Given the description of an element on the screen output the (x, y) to click on. 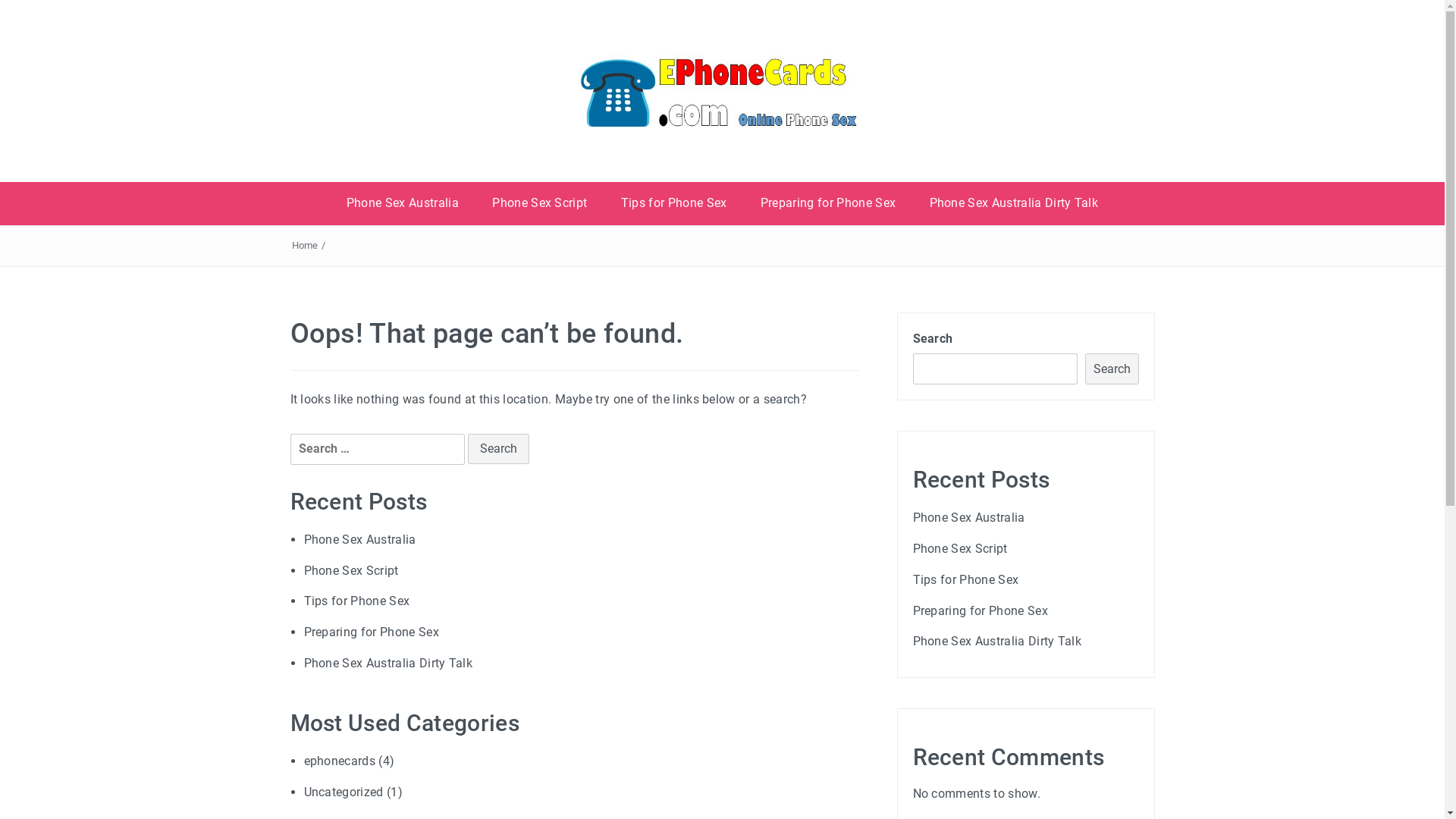
Phone Sex Australia Dirty Talk Element type: text (997, 640)
Preparing for Phone Sex Element type: text (980, 610)
Uncategorized Element type: text (342, 791)
Home Element type: text (304, 245)
Preparing for Phone Sex Element type: text (370, 631)
Search Element type: text (1111, 368)
Tips for Phone Sex Element type: text (673, 203)
Phone Sex Script Element type: text (350, 570)
Search Element type: text (498, 448)
Tips for Phone Sex Element type: text (966, 579)
Phone Sex Australia Dirty Talk Element type: text (1013, 203)
Phone Sex Script Element type: text (960, 548)
Phone Sex Australia Element type: text (359, 539)
Phone Sex Australia Dirty Talk Element type: text (387, 662)
Phone Sex Script Element type: text (539, 203)
Tips for Phone Sex Element type: text (356, 600)
Phone Sex Australia Element type: text (969, 517)
Preparing for Phone Sex Element type: text (827, 203)
Phone Sex Australia Element type: text (402, 203)
ephonecards Element type: text (339, 760)
